Given the description of an element on the screen output the (x, y) to click on. 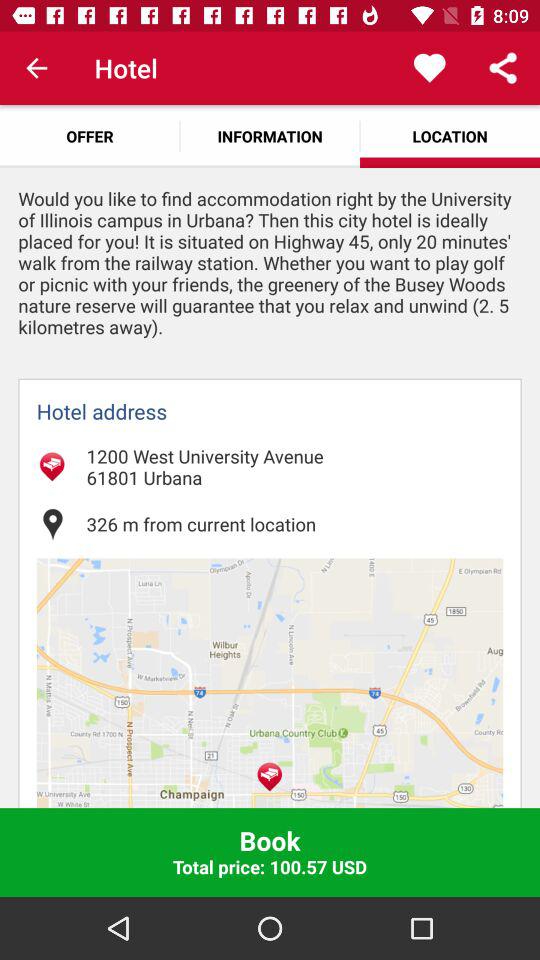
tap icon next to information item (90, 136)
